Given the description of an element on the screen output the (x, y) to click on. 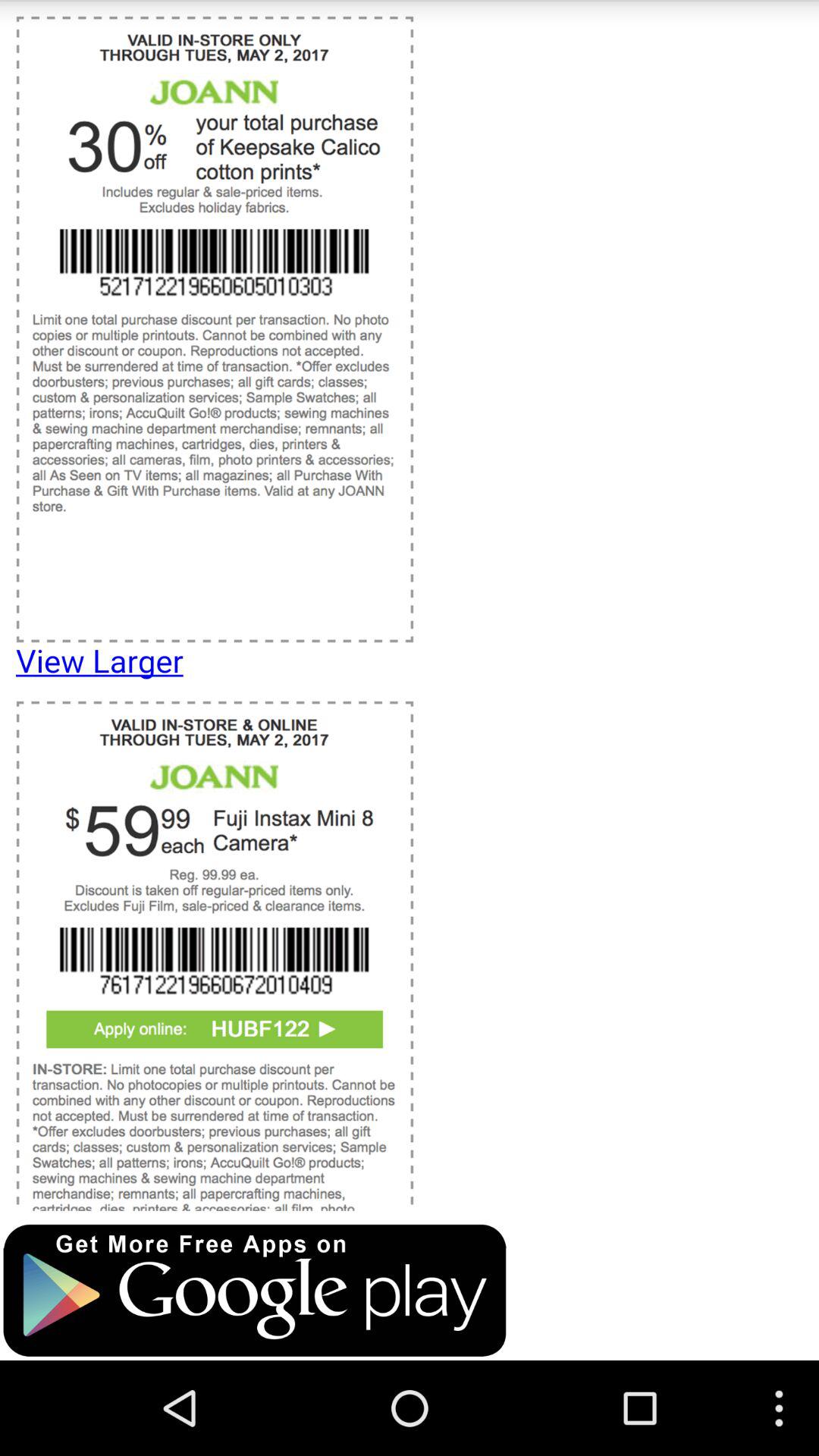
open google play store (254, 1290)
